Given the description of an element on the screen output the (x, y) to click on. 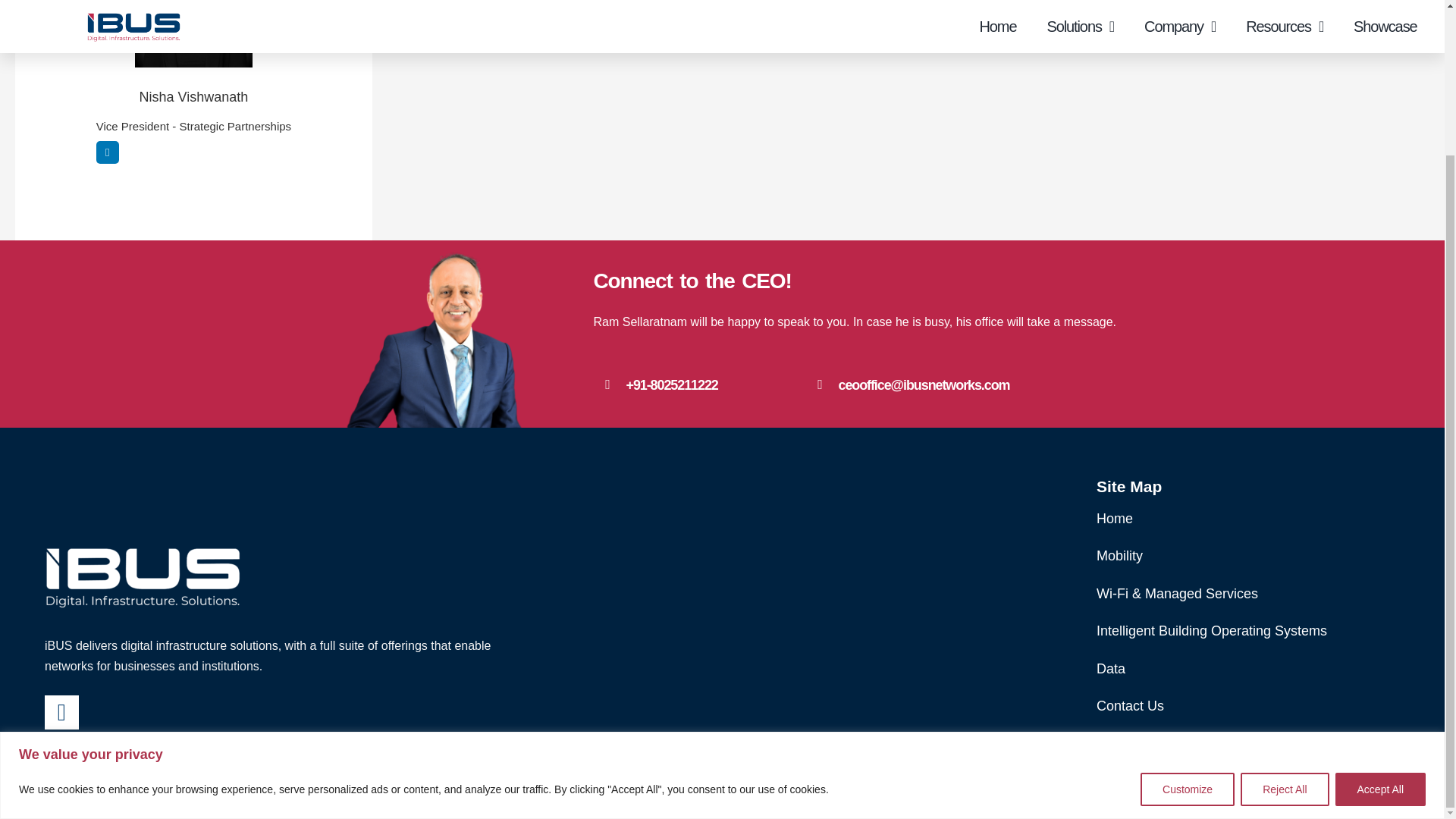
Linkedin (107, 151)
Customize (1187, 607)
Accept All (1380, 607)
Reject All (1283, 607)
